Given the description of an element on the screen output the (x, y) to click on. 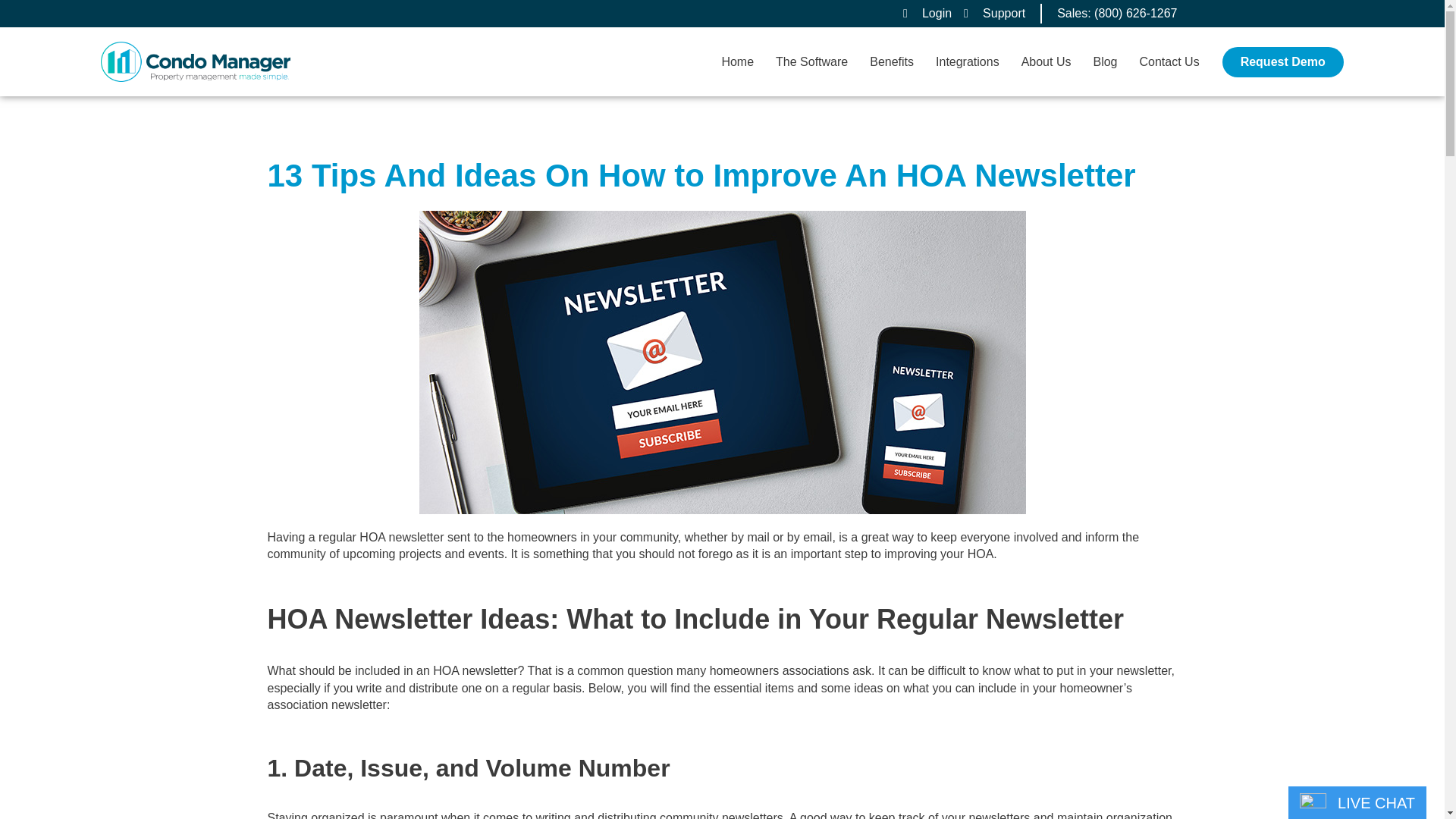
Contact Us (1168, 61)
About Us (1046, 61)
Support (994, 13)
Blog (1104, 61)
Integrations (967, 61)
Home (737, 61)
Benefits (891, 61)
The Software (811, 61)
Login (927, 13)
